Given the description of an element on the screen output the (x, y) to click on. 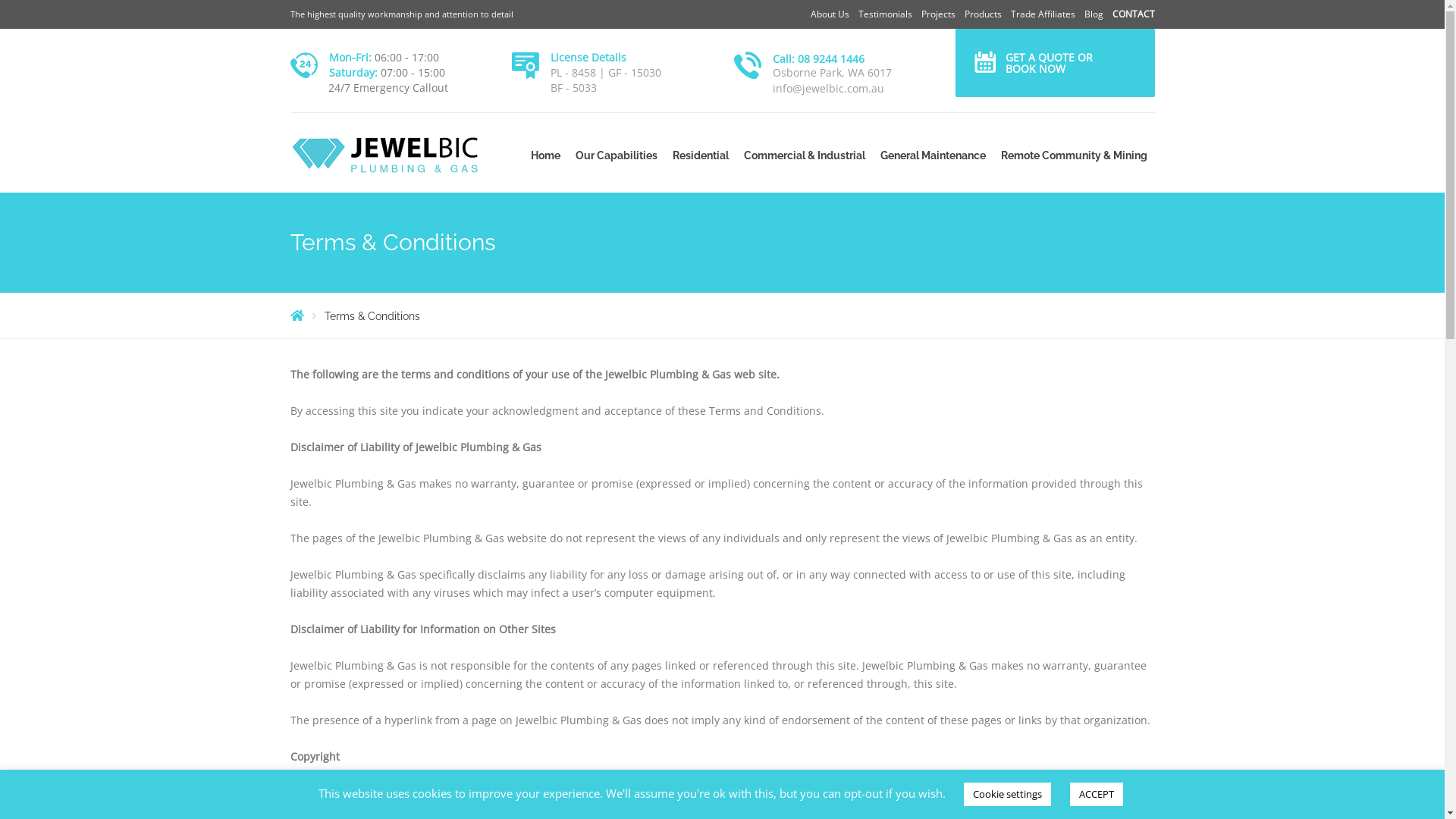
Testimonials Element type: text (885, 13)
Call: 08 9244 1446 Element type: text (818, 58)
Cookie settings Element type: text (1006, 794)
Remote Community & Mining Element type: text (1073, 155)
info@jewelbic.com.au Element type: text (827, 88)
Commercial & Industrial Element type: text (803, 155)
About Us Element type: text (828, 13)
CONTACT Element type: text (1132, 13)
Residential Element type: text (699, 155)
GET A QUOTE OR BOOK NOW Element type: text (1054, 62)
ACCEPT Element type: text (1095, 794)
Home Element type: text (545, 155)
Projects Element type: text (937, 13)
Products Element type: text (982, 13)
Trade Affiliates Element type: text (1042, 13)
Blog Element type: text (1093, 13)
Our Capabilities Element type: text (615, 155)
General Maintenance Element type: text (932, 155)
